Given the description of an element on the screen output the (x, y) to click on. 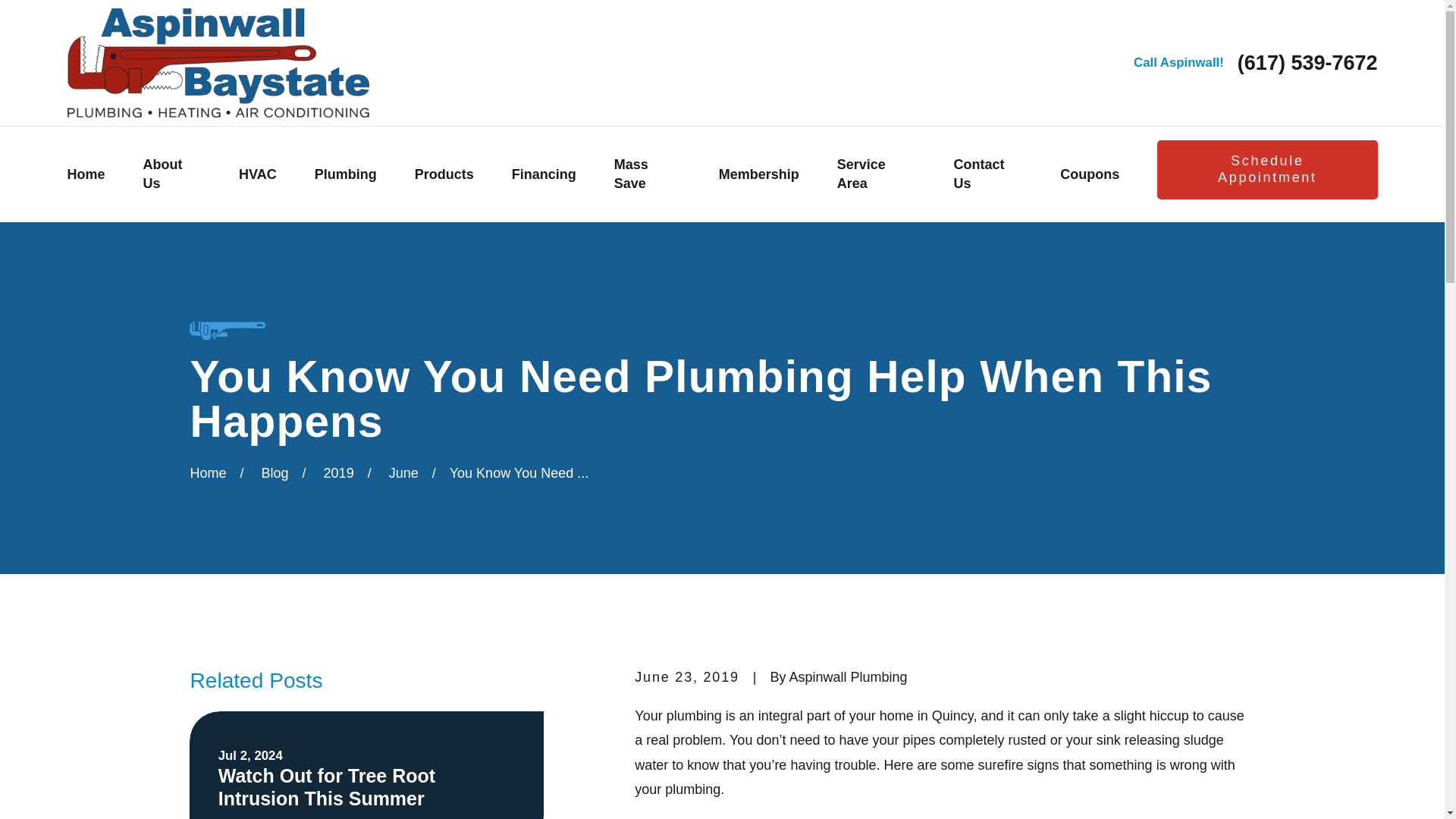
Go Home (207, 473)
Home (217, 62)
